Given the description of an element on the screen output the (x, y) to click on. 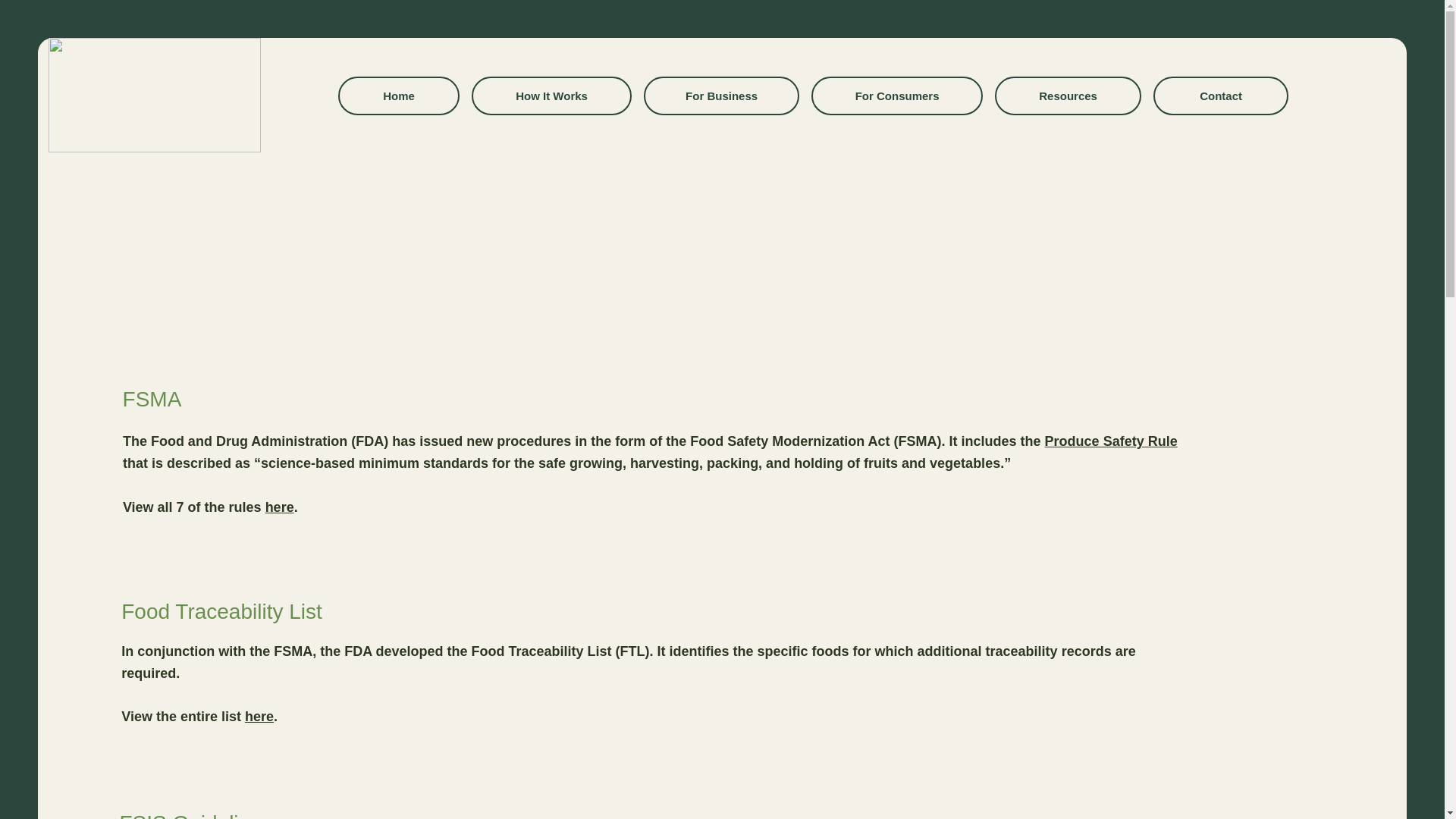
Produce Safety Rule (1111, 441)
here (258, 716)
Home (398, 95)
Contact (1220, 95)
here (279, 507)
For Consumers (896, 95)
How It Works (551, 95)
For Business (721, 95)
